Given the description of an element on the screen output the (x, y) to click on. 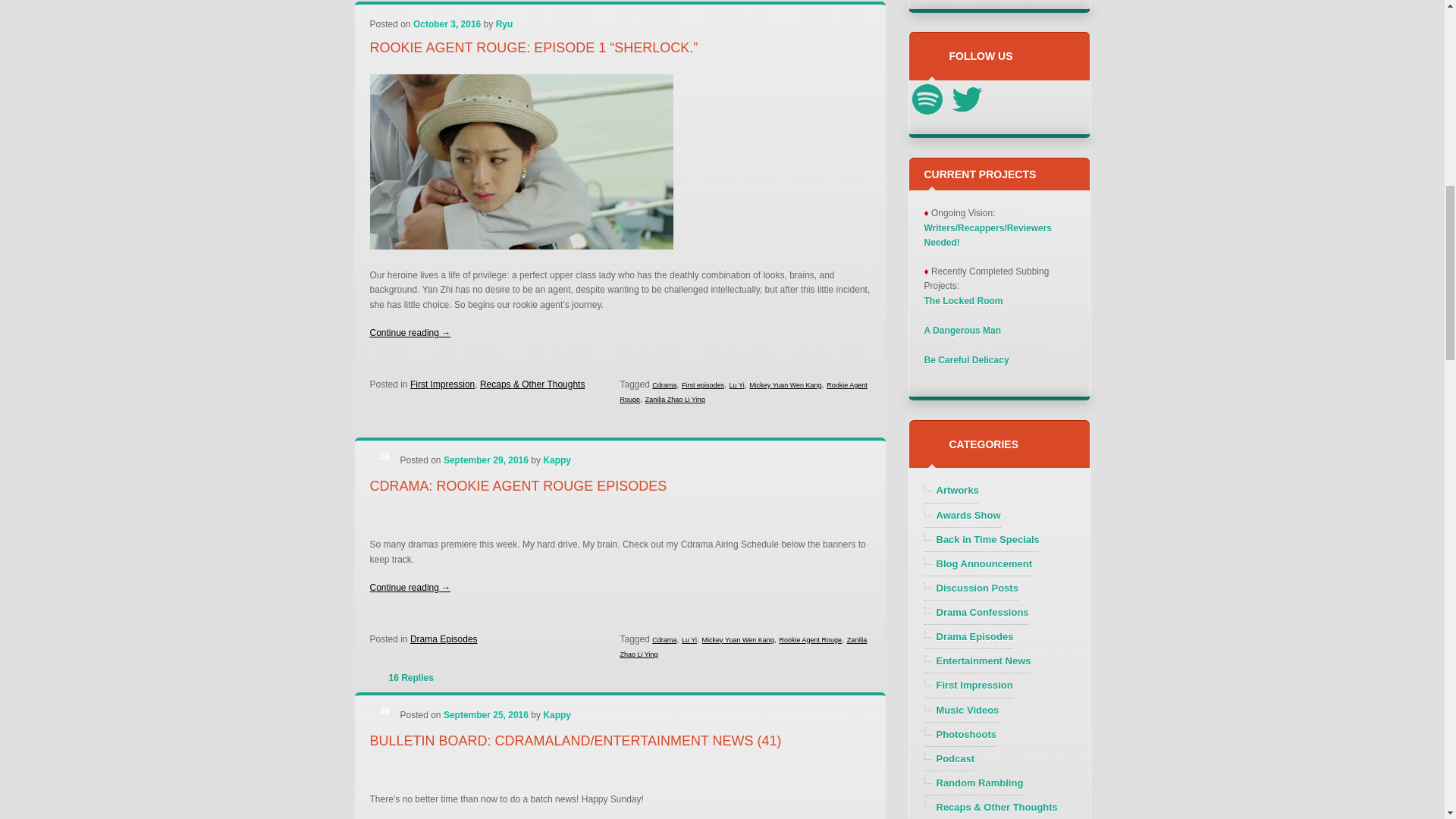
View all posts by Kappy (556, 460)
View all posts by Ryu (504, 23)
9:40 pm (486, 460)
View all posts by Kappy (556, 715)
Permalink to Cdrama: Rookie Agent Rouge Episodes (517, 485)
4:43 am (446, 23)
4:30 pm (486, 715)
